Given the description of an element on the screen output the (x, y) to click on. 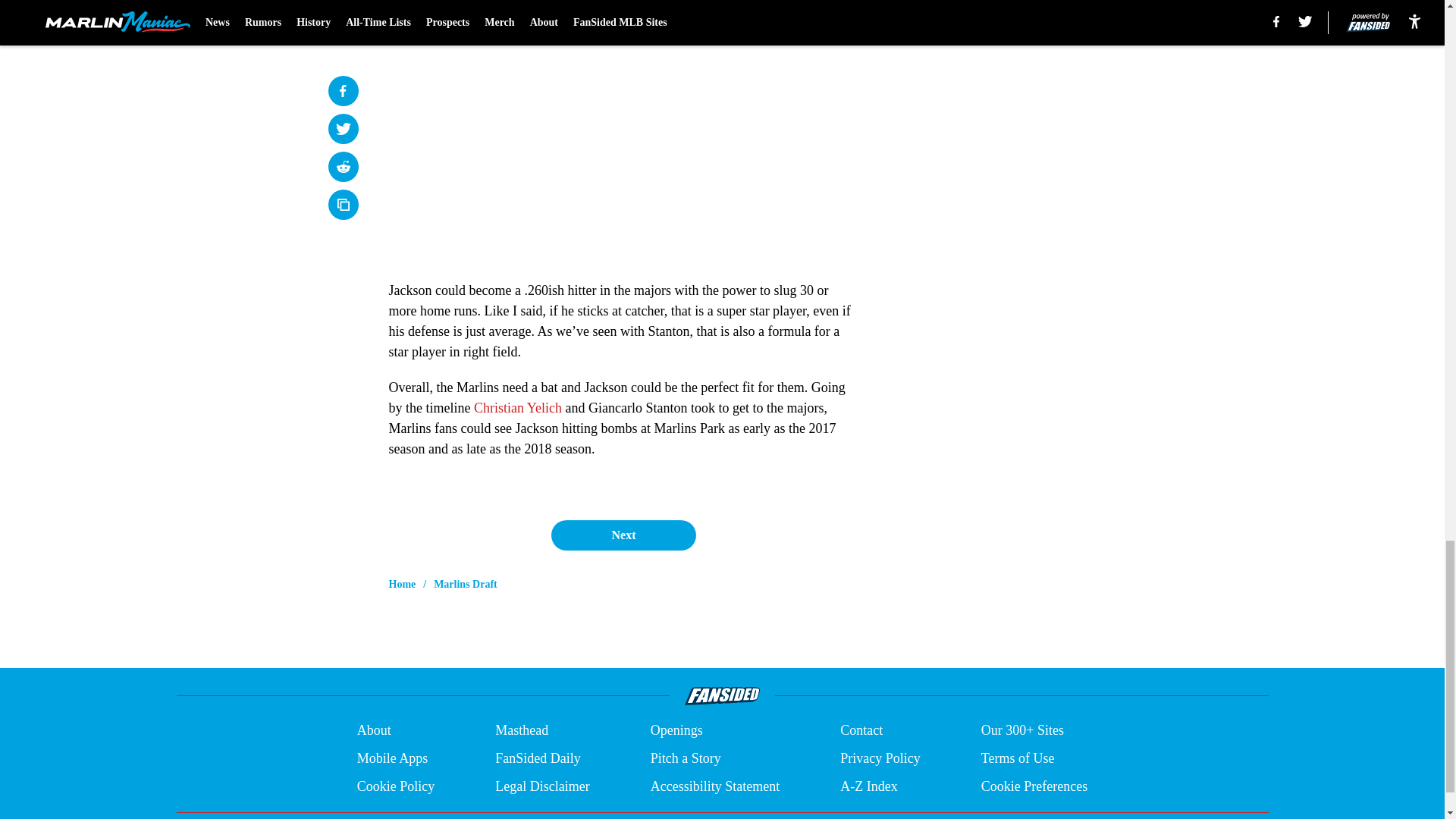
Masthead (521, 730)
Openings (676, 730)
About (373, 730)
Home (401, 584)
Marlins Draft (465, 584)
Giancarlo Stanton (622, 12)
Mobile Apps (392, 758)
Next (622, 535)
Christian Yelich (518, 407)
Contact (861, 730)
FanSided Daily (537, 758)
